Given the description of an element on the screen output the (x, y) to click on. 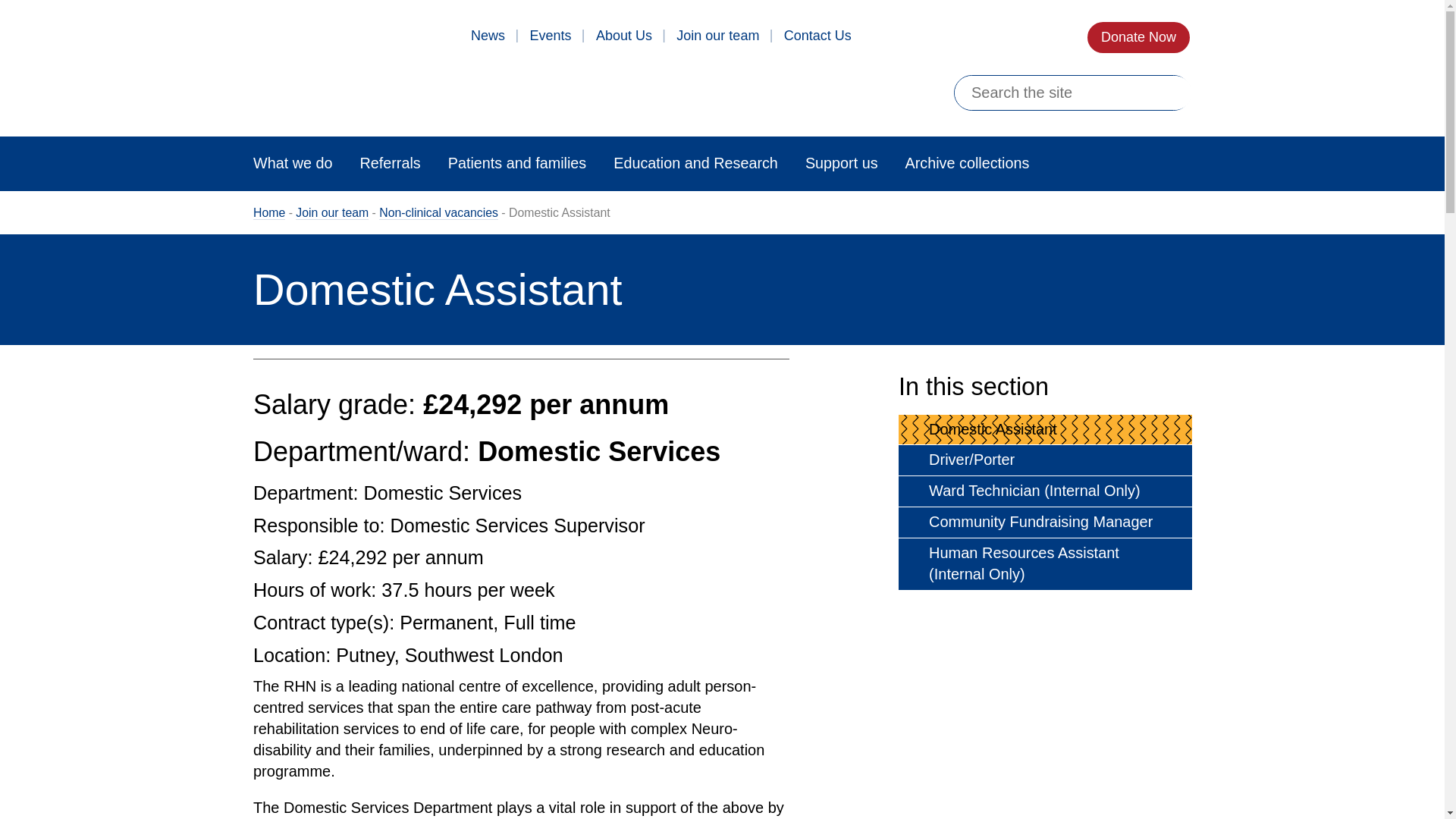
Support us (841, 164)
Royal Hospital for Neuro-disability (360, 81)
Education and Research (694, 164)
Contact Us (817, 35)
Referrals (389, 164)
Go to Royal Hospital for Neuro-disability. (269, 213)
Find us on YouTube (1014, 36)
Find us on Facebook (895, 36)
News (487, 35)
Join our team (717, 35)
